Given the description of an element on the screen output the (x, y) to click on. 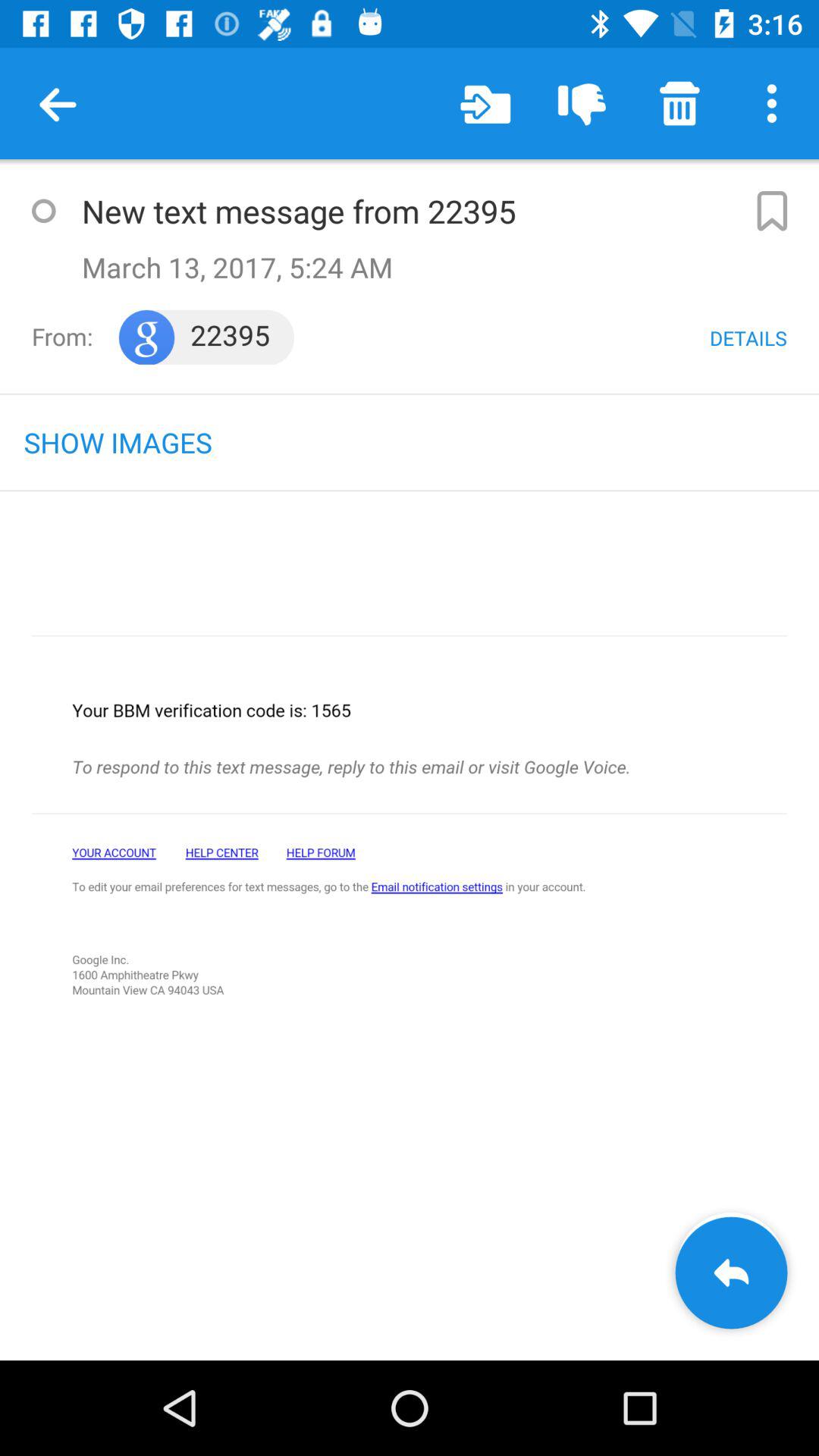
go back (409, 939)
